Given the description of an element on the screen output the (x, y) to click on. 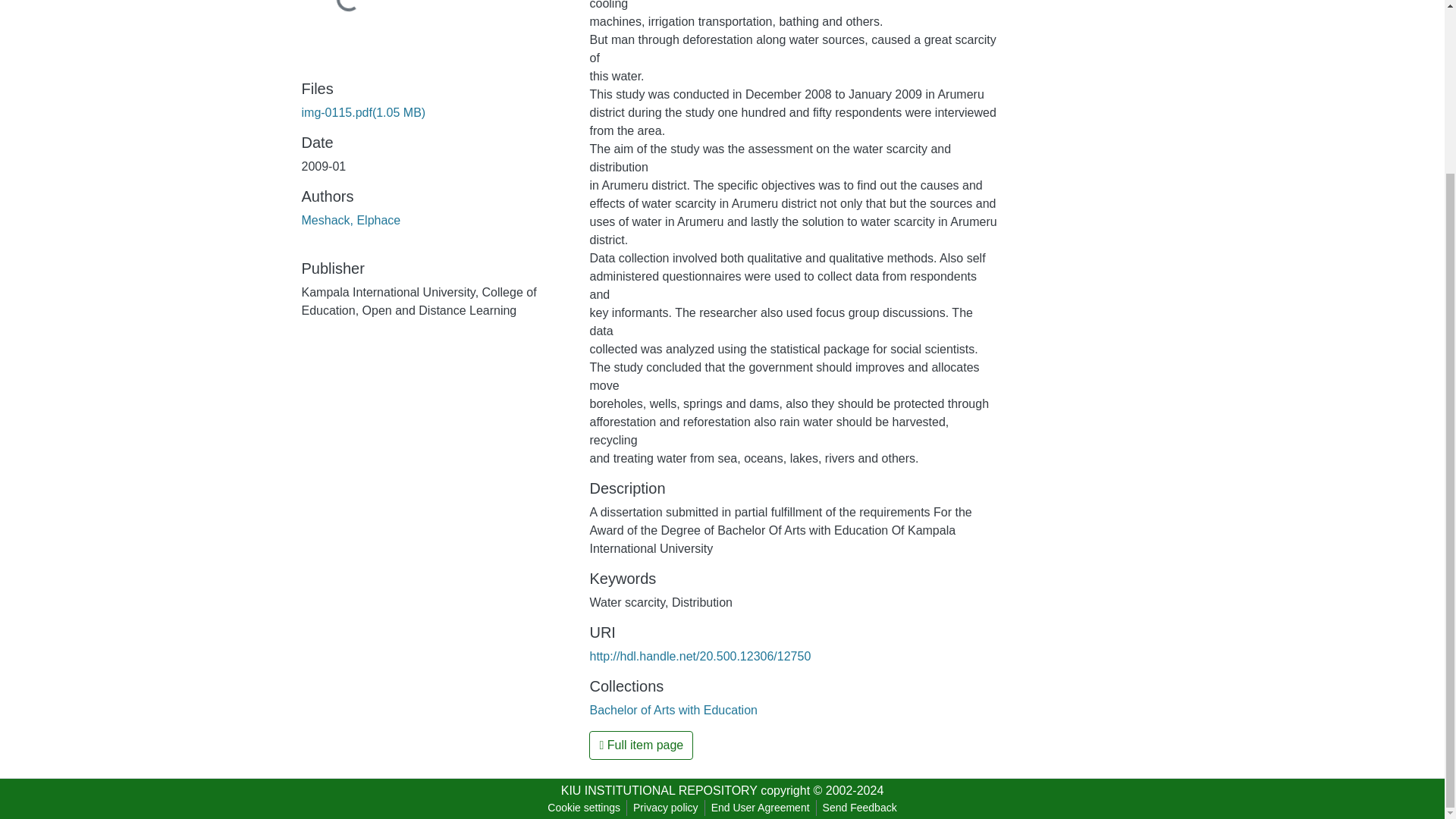
Full item page (641, 745)
Bachelor of Arts with Education (673, 709)
Meshack, Elphace (351, 219)
End User Agreement (759, 807)
Send Feedback (859, 807)
Cookie settings (583, 807)
Privacy policy (665, 807)
KIU INSTITUTIONAL REPOSITORY (658, 789)
